Given the description of an element on the screen output the (x, y) to click on. 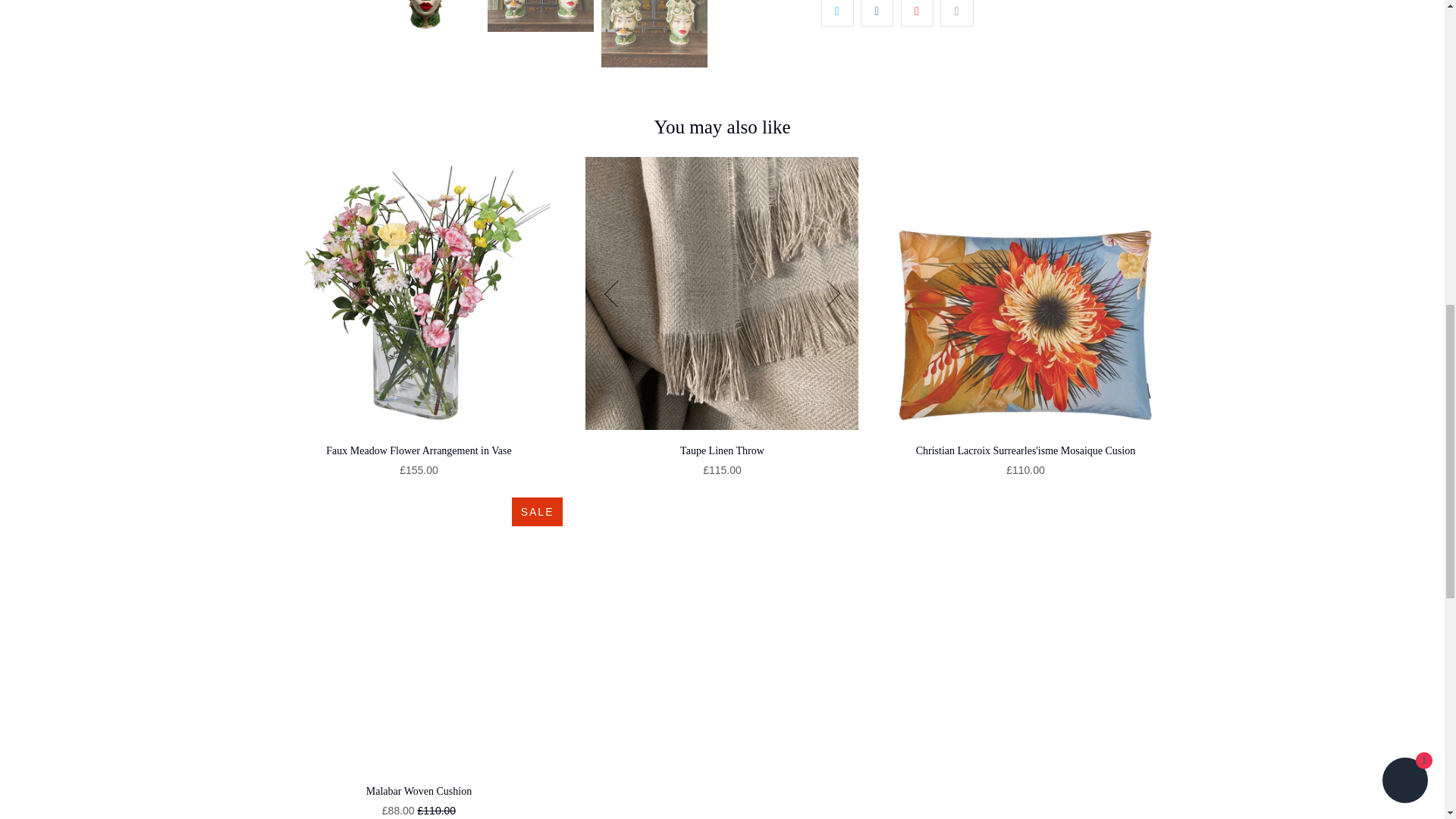
Email this to a friend (956, 13)
Share this on Pinterest (917, 13)
Share this on Facebook (876, 13)
Share this on Twitter (837, 13)
